Given the description of an element on the screen output the (x, y) to click on. 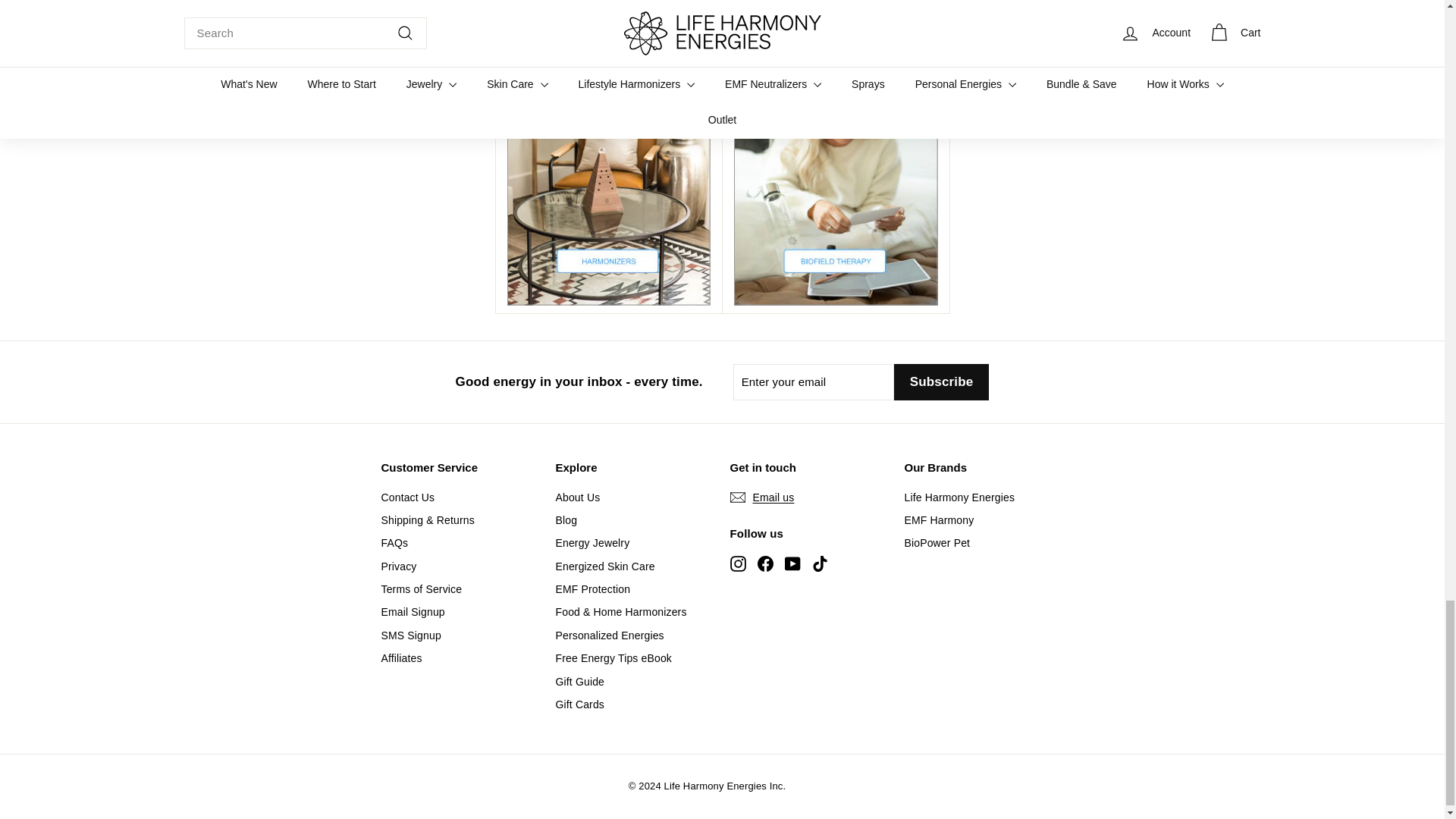
Life Harmony Energies on Facebook (765, 562)
Biofield Therapy Energy Products (835, 152)
Home, Water, Energy Harmonizers (608, 152)
Life Harmony Energies on TikTok (818, 562)
Life Harmony Energies on Instagram (737, 562)
Life Harmony Energies on YouTube (791, 562)
instagram (737, 563)
